Given the description of an element on the screen output the (x, y) to click on. 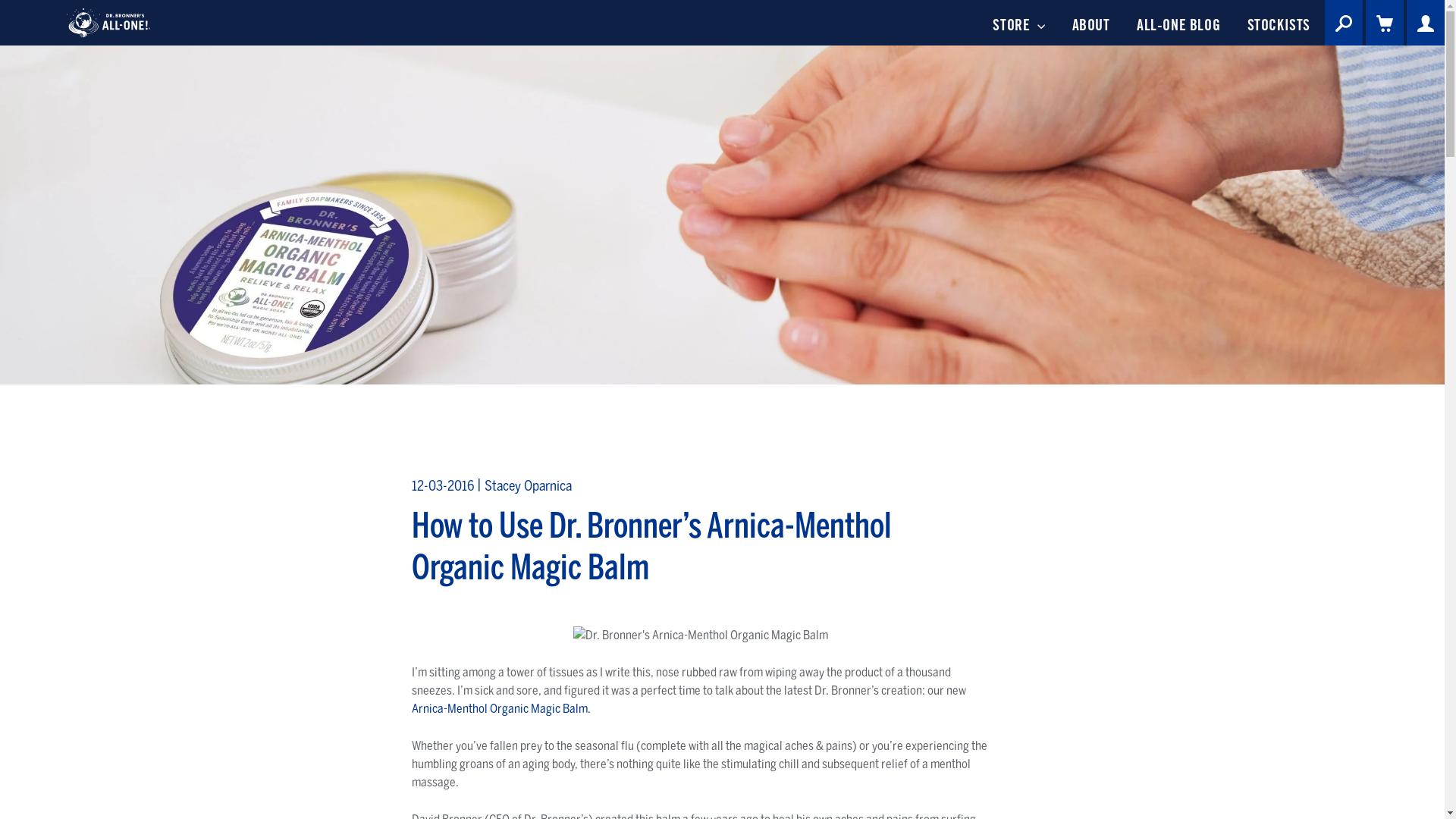
ALL-ONE BLOG Element type: text (1178, 22)
Arnica-Menthol Organic Magic Balm. Element type: text (500, 708)
STOCKISTS Element type: text (1278, 22)
Skip to content Element type: text (0, 0)
STORE Element type: text (1018, 22)
ABOUT Element type: text (1090, 22)
